Given the description of an element on the screen output the (x, y) to click on. 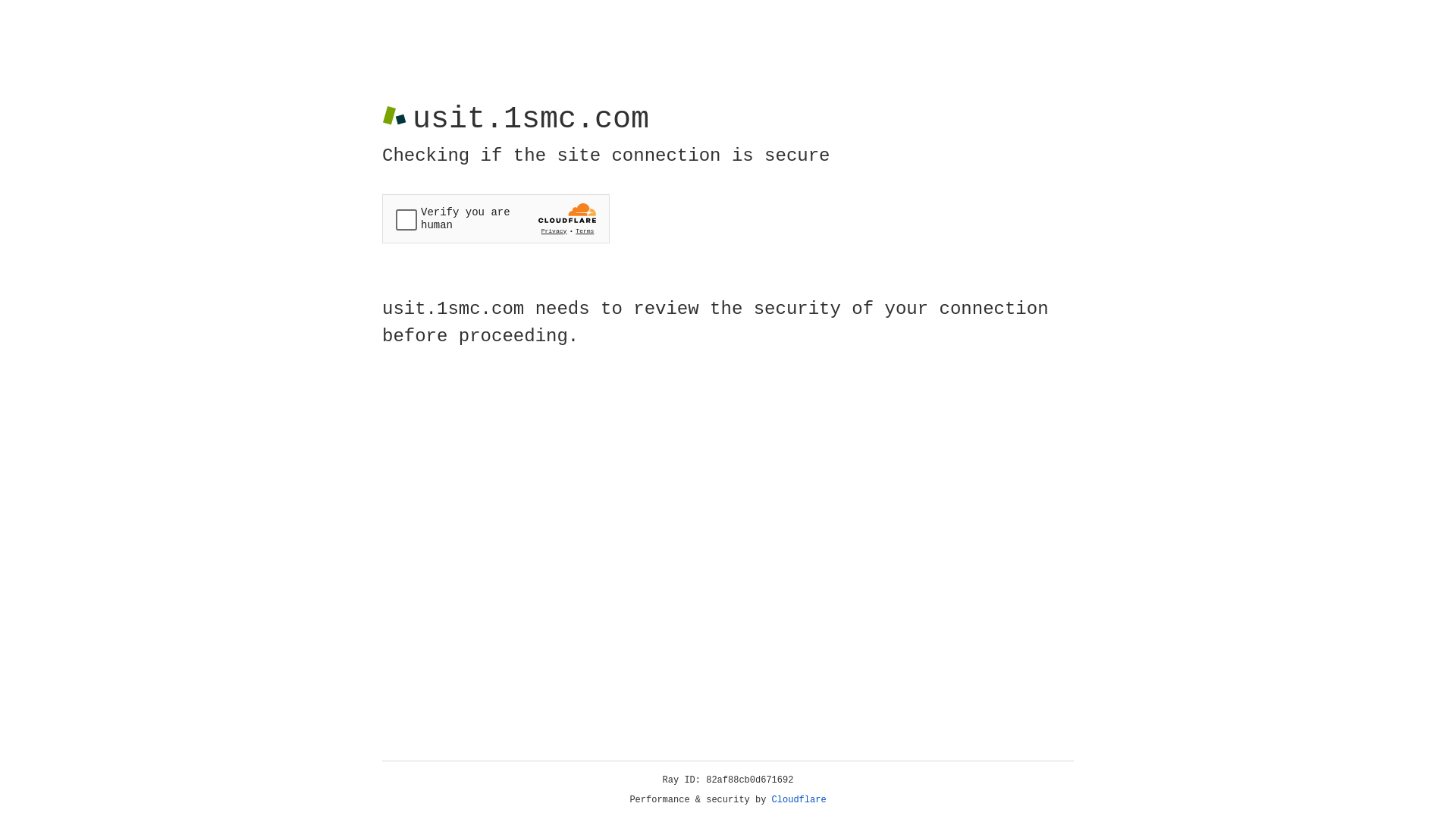
Widget containing a Cloudflare security challenge Element type: hover (495, 218)
Cloudflare Element type: text (798, 799)
